Given the description of an element on the screen output the (x, y) to click on. 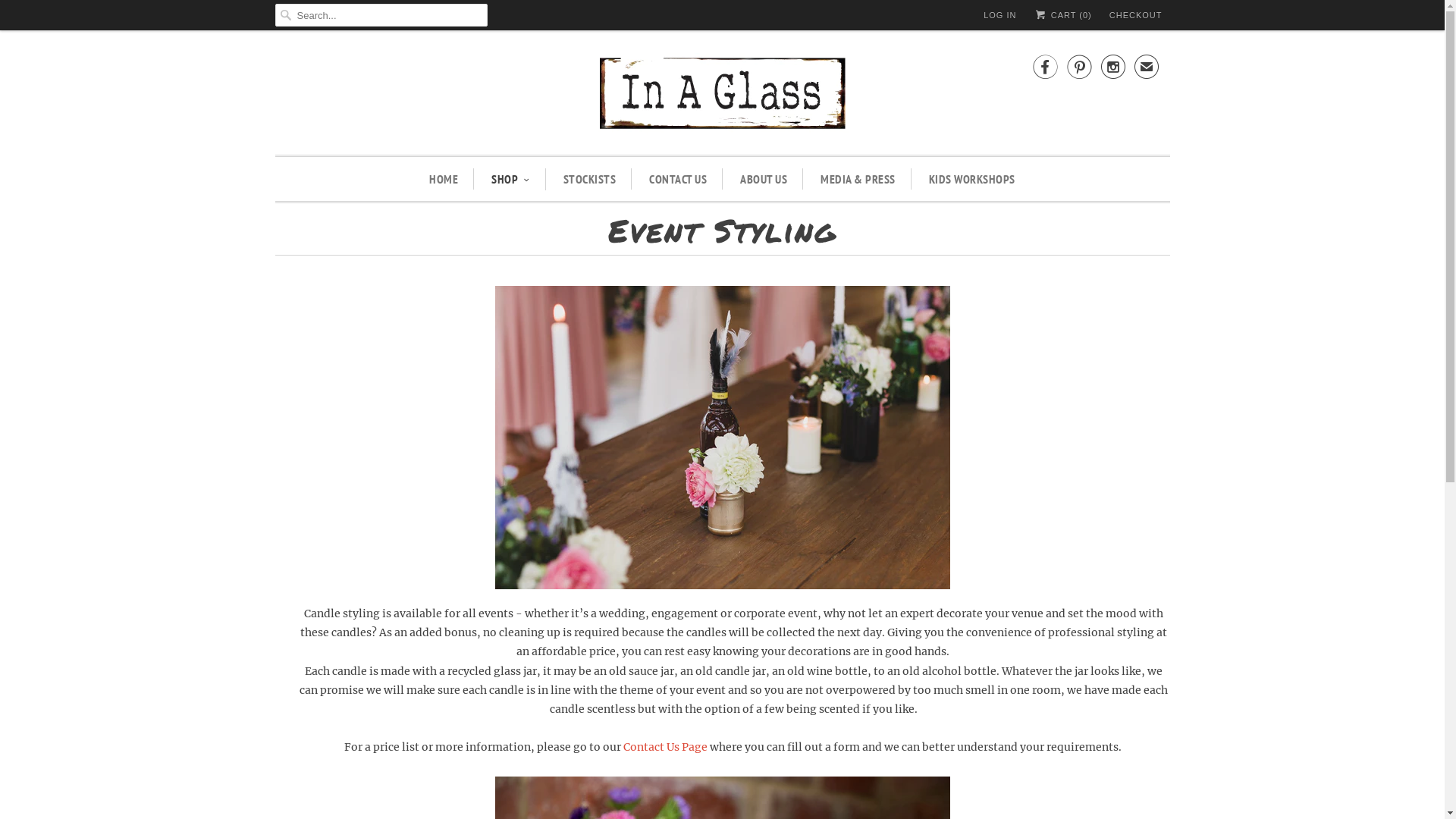
LOG IN Element type: text (999, 14)
CHECKOUT Element type: text (1135, 14)
ABOUT US Element type: text (763, 178)
MEDIA & PRESS Element type: text (857, 178)
CONTACT US Element type: text (677, 178)
In A Glass Element type: hover (721, 96)
CART (0) Element type: text (1062, 14)
STOCKISTS Element type: text (589, 178)
HOME Element type: text (443, 178)
Contact Us Page Element type: text (665, 746)
SHOP Element type: text (510, 179)
KIDS WORKSHOPS Element type: text (971, 178)
